Given the description of an element on the screen output the (x, y) to click on. 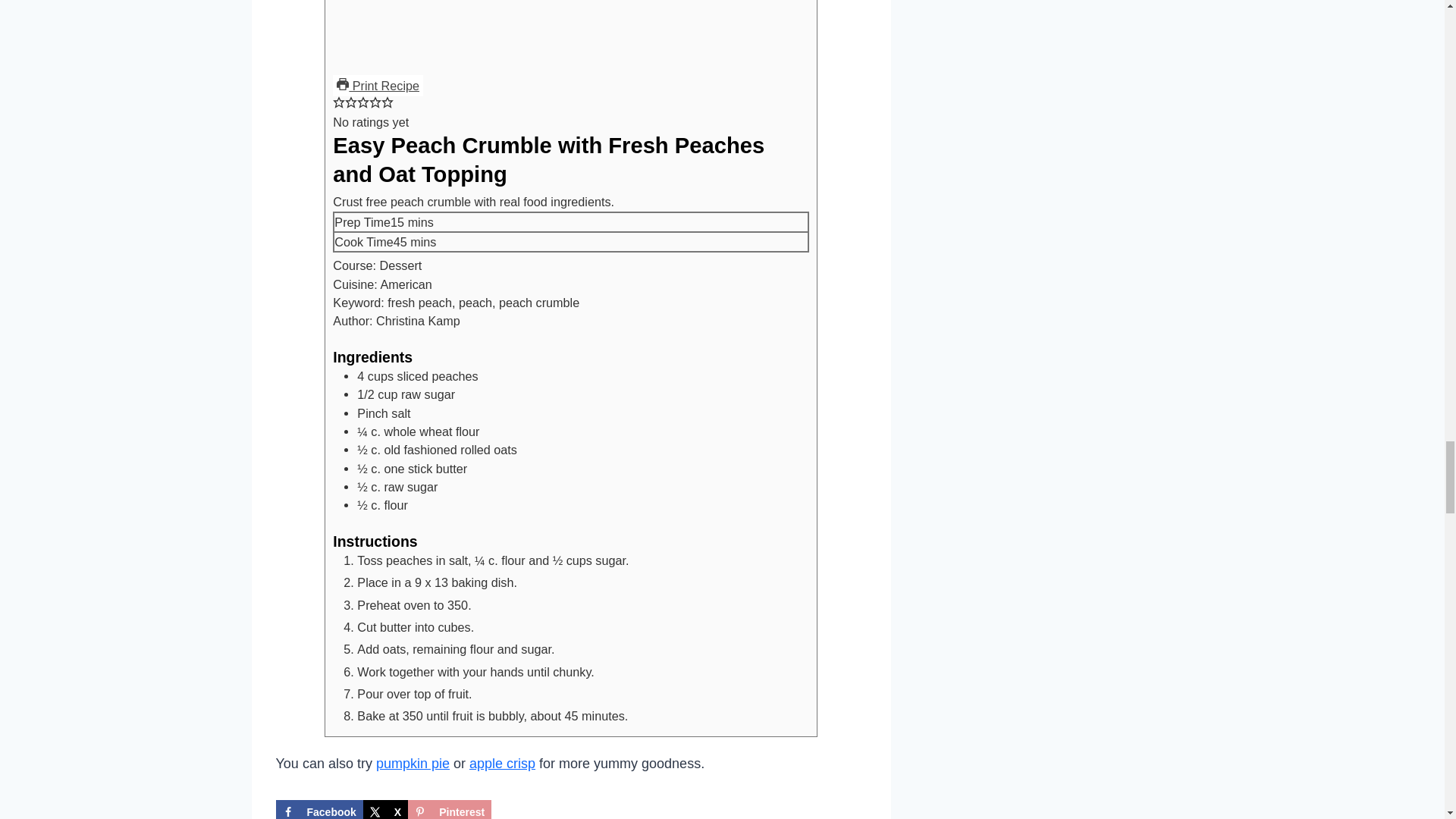
Facebook (319, 809)
X (384, 809)
Share on X (384, 809)
pumpkin pie (412, 763)
Pinterest (449, 809)
apple crisp (501, 763)
Print Recipe (378, 85)
Save to Pinterest (449, 809)
Share on Facebook (319, 809)
